Given the description of an element on the screen output the (x, y) to click on. 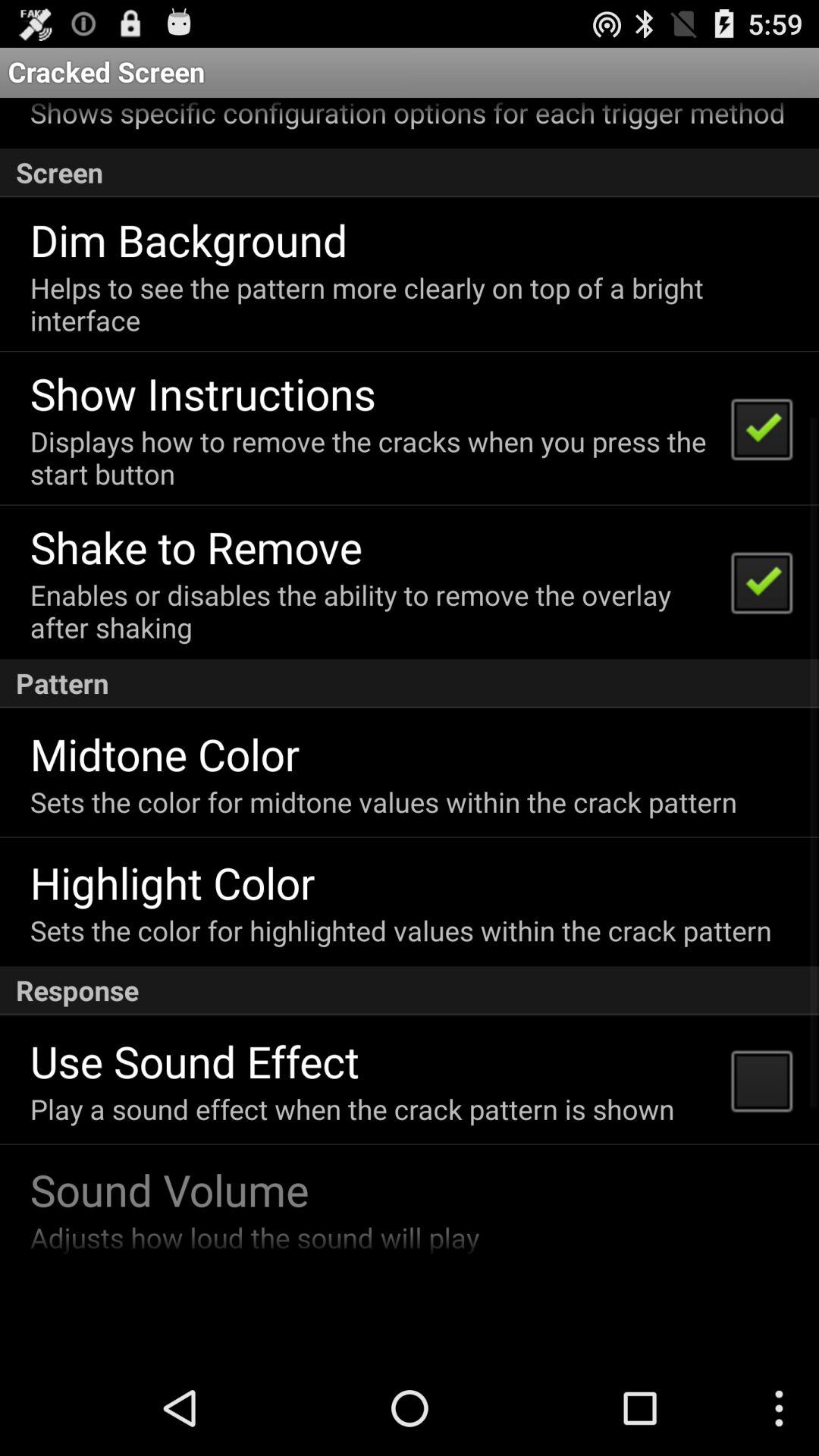
click item below helps to see app (202, 393)
